Given the description of an element on the screen output the (x, y) to click on. 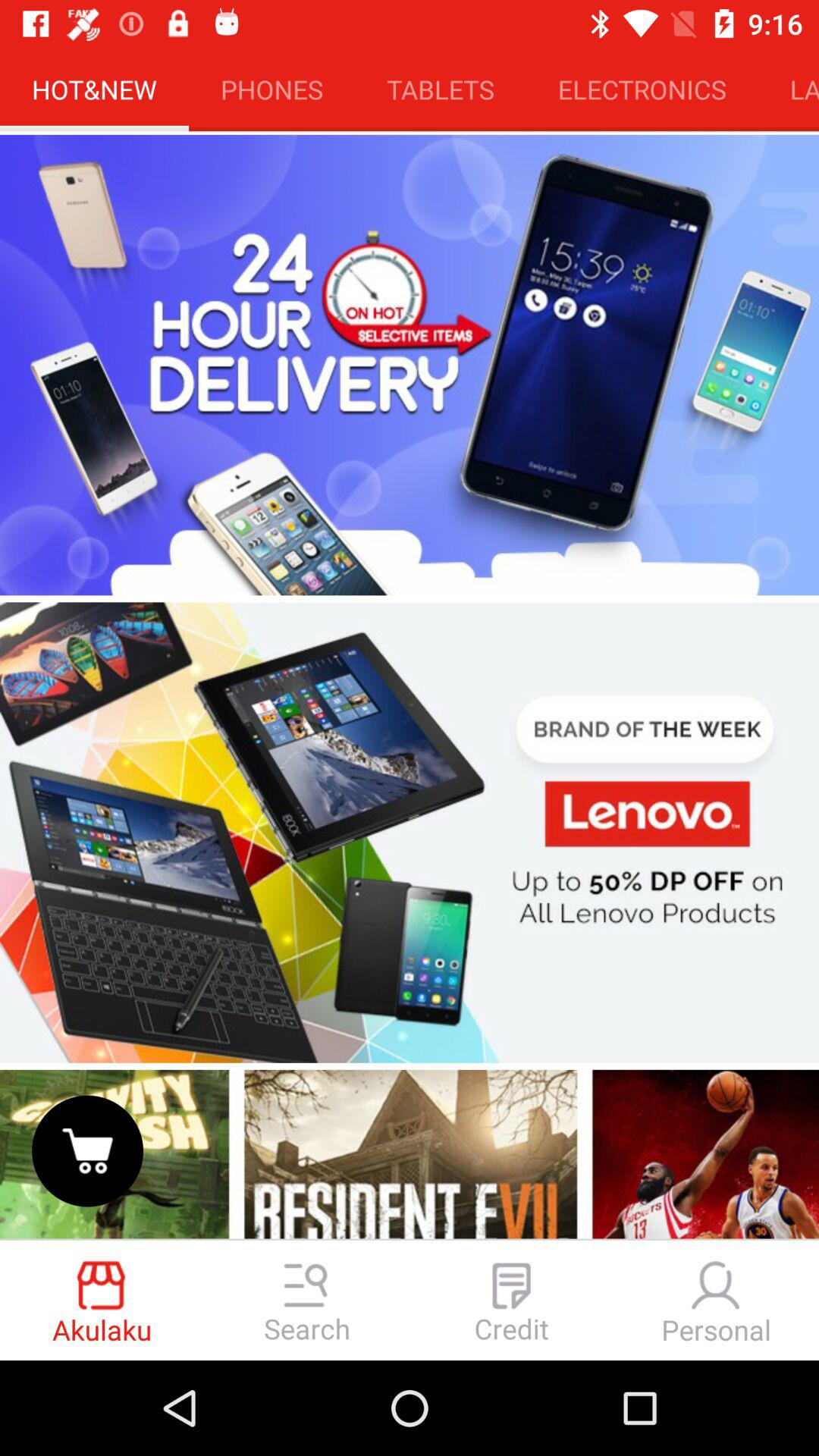
go to shopping cart (87, 1150)
